Given the description of an element on the screen output the (x, y) to click on. 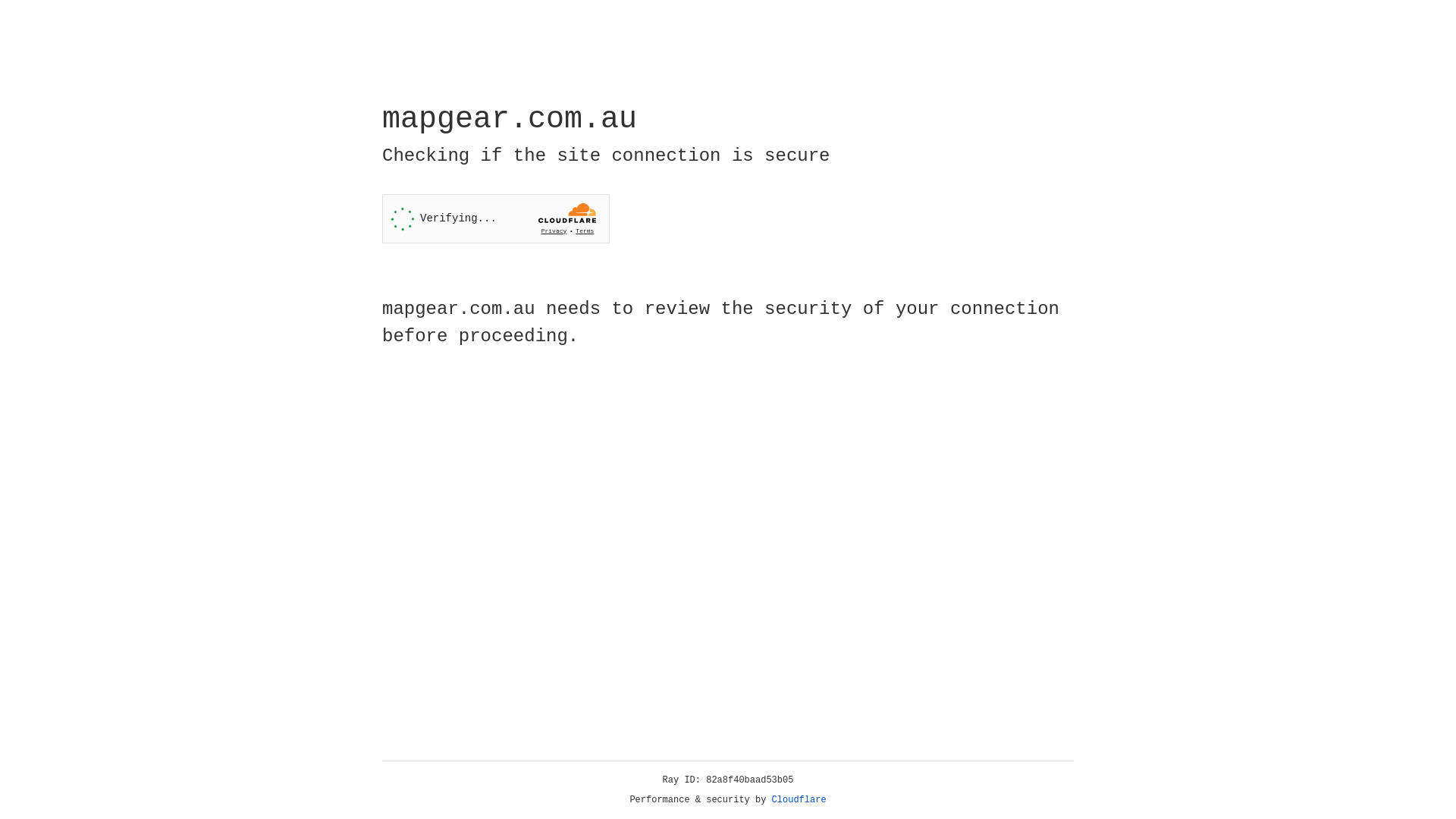
Cloudflare Element type: text (798, 799)
Widget containing a Cloudflare security challenge Element type: hover (495, 218)
